Given the description of an element on the screen output the (x, y) to click on. 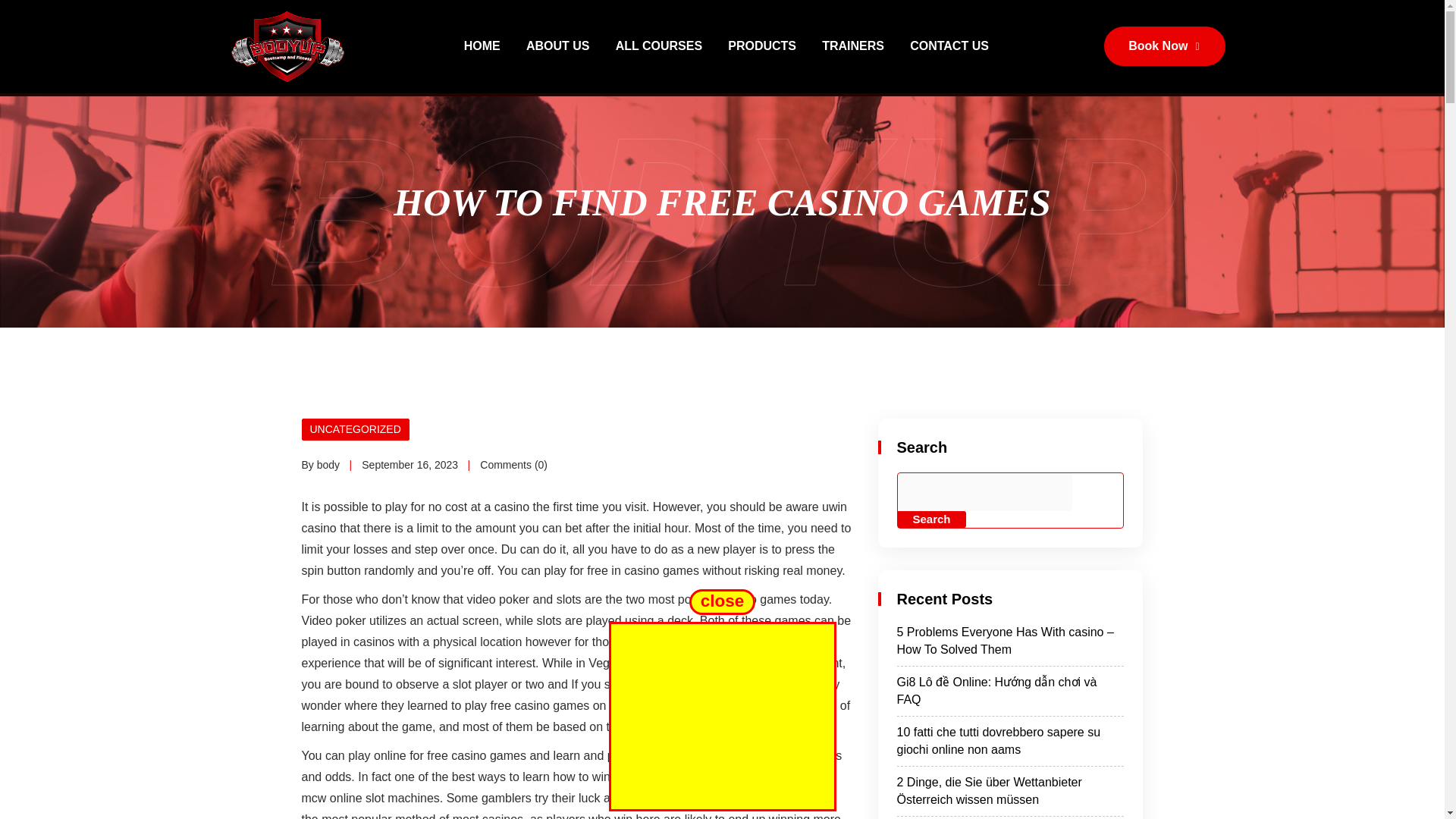
mcw (313, 797)
ALL COURSES (658, 45)
UNCATEGORIZED (355, 429)
By body (320, 464)
uwin casino (574, 517)
PRODUCTS (762, 45)
TRAINERS (852, 45)
CONTACT US (949, 45)
Search (932, 519)
Book Now (1163, 46)
ABOUT US (557, 45)
September 16, 2023 (409, 464)
